Given the description of an element on the screen output the (x, y) to click on. 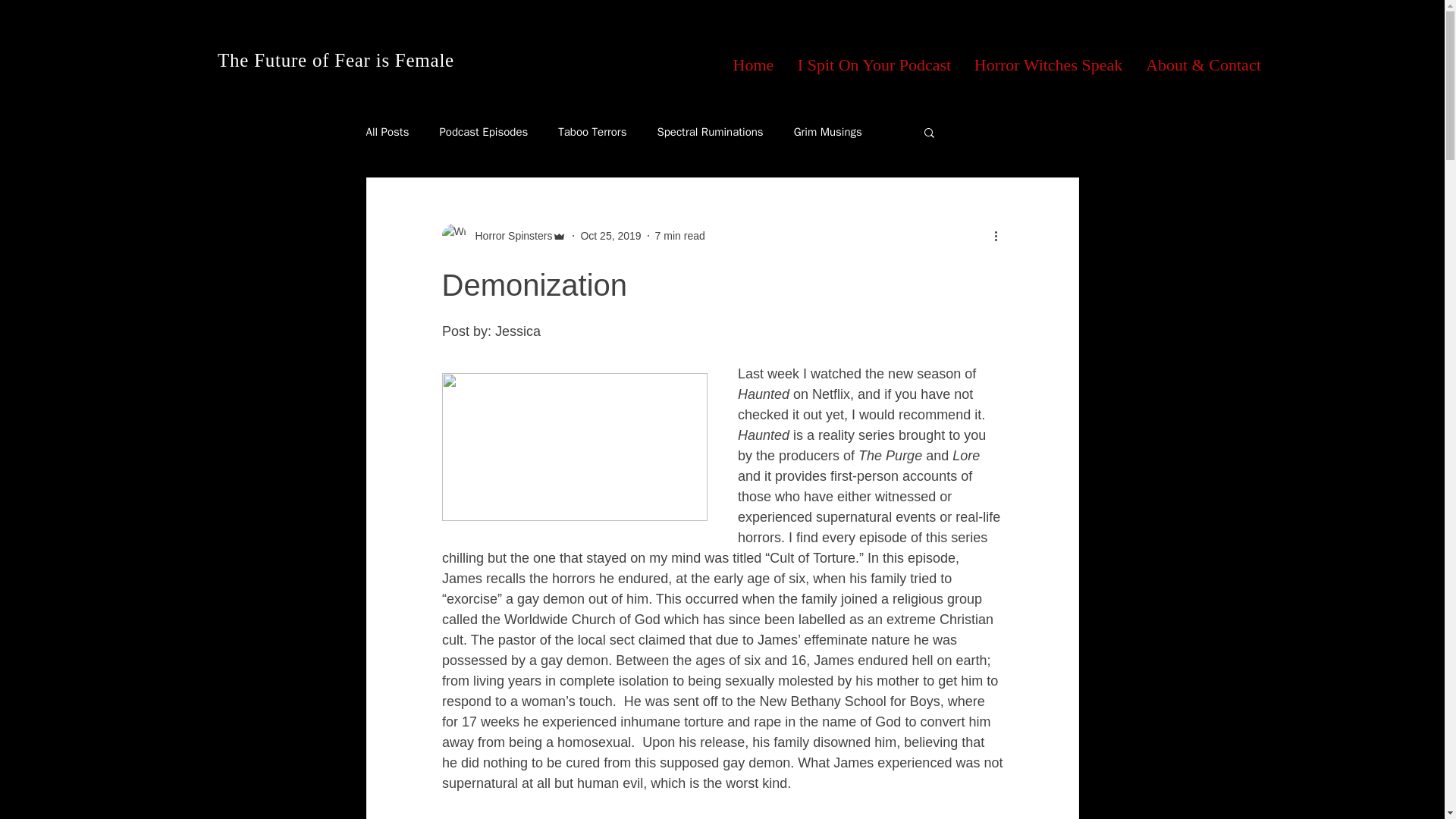
Taboo Terrors (591, 131)
Oct 25, 2019 (609, 234)
Spectral Ruminations (709, 131)
I Spit On Your Podcast (874, 64)
Podcast Episodes (483, 131)
Horror Witches Speak (1048, 64)
All Posts (387, 131)
Horror Spinsters (508, 235)
Home (753, 64)
7 min read (679, 234)
Grim Musings (827, 131)
